Given the description of an element on the screen output the (x, y) to click on. 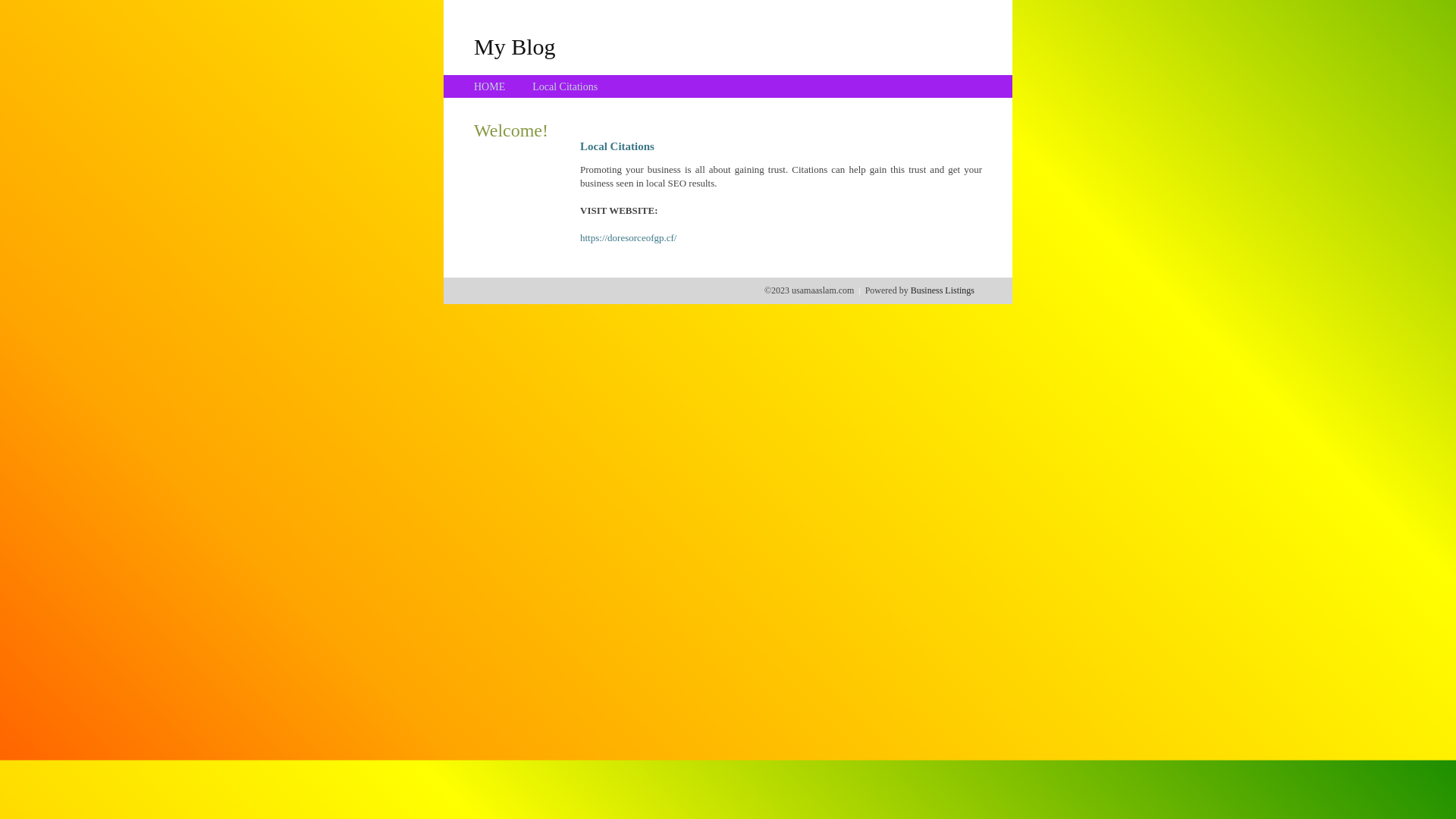
HOME Element type: text (489, 86)
My Blog Element type: text (514, 46)
https://doresorceofgp.cf/ Element type: text (628, 237)
Business Listings Element type: text (942, 290)
Local Citations Element type: text (564, 86)
